Given the description of an element on the screen output the (x, y) to click on. 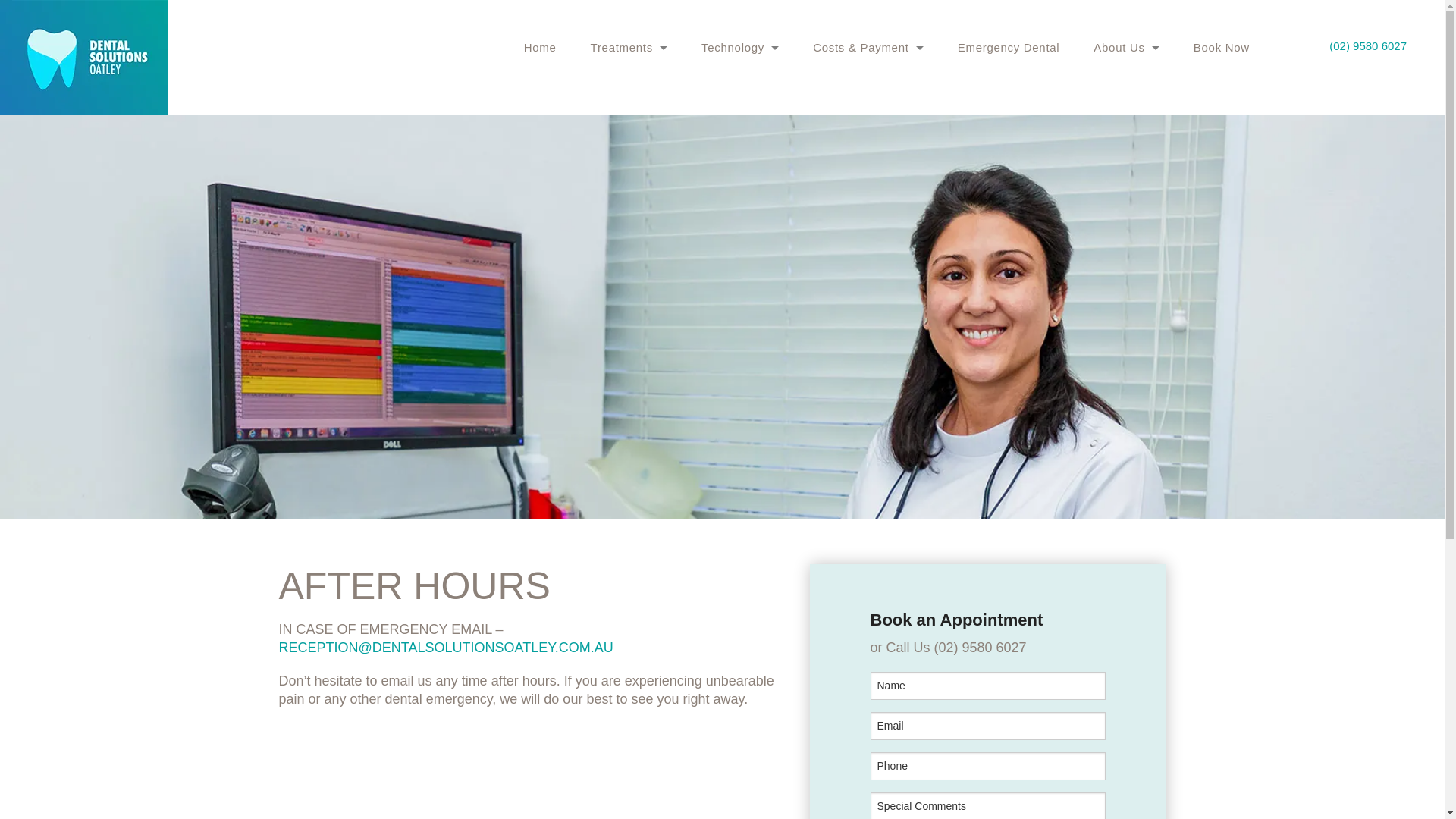
EMS Air Flow Element type: text (739, 154)
Our Team Element type: text (1126, 86)
Cosmetic Element type: text (629, 120)
Treatments Element type: text (629, 47)
Grinding and Clenching Element type: text (629, 256)
Magnification Loupes Element type: text (739, 222)
iTero Intraoral Scanner Element type: text (739, 256)
Diode Laser Dentistry Element type: text (739, 86)
Anxiety At The Dentist Element type: text (629, 290)
Want options for tooth whitening? Element type: text (624, 188)
Emergency Dental Element type: text (629, 222)
Need to improve your smile? Element type: text (624, 120)
RECEPTION@DENTALSOLUTIONSOATLEY.COM.AU Element type: text (446, 647)
No Gap Services Element type: text (867, 120)
Air Abrasion Dentistry Element type: text (739, 324)
Orthodontic Element type: text (629, 154)
General Treatment Element type: text (629, 86)
Costs & Payment Element type: text (867, 47)
About Us Element type: text (1126, 47)
Surgery Room Televisions Element type: text (739, 359)
Contact Us Element type: text (1126, 120)
Dentures Element type: text (629, 324)
Technology Element type: text (739, 47)
Finance Options Element type: text (867, 154)
Considering an Implant? Element type: text (624, 154)
Are you embarrassed about a tooth? Element type: text (624, 256)
X-rays and OPG Element type: text (739, 188)
Dental Implants Element type: text (629, 188)
(02) 9580 6027 Element type: text (1367, 45)
Anxiety at the dentist Element type: text (624, 86)
Book Now Element type: text (1221, 47)
Guided Implant Surgery Element type: text (739, 290)
Healthfund and HICAPS Element type: text (867, 86)
Home Element type: text (540, 47)
Emergency Dental Element type: text (1008, 47)
Intra Oral Camera Element type: text (739, 120)
